Given the description of an element on the screen output the (x, y) to click on. 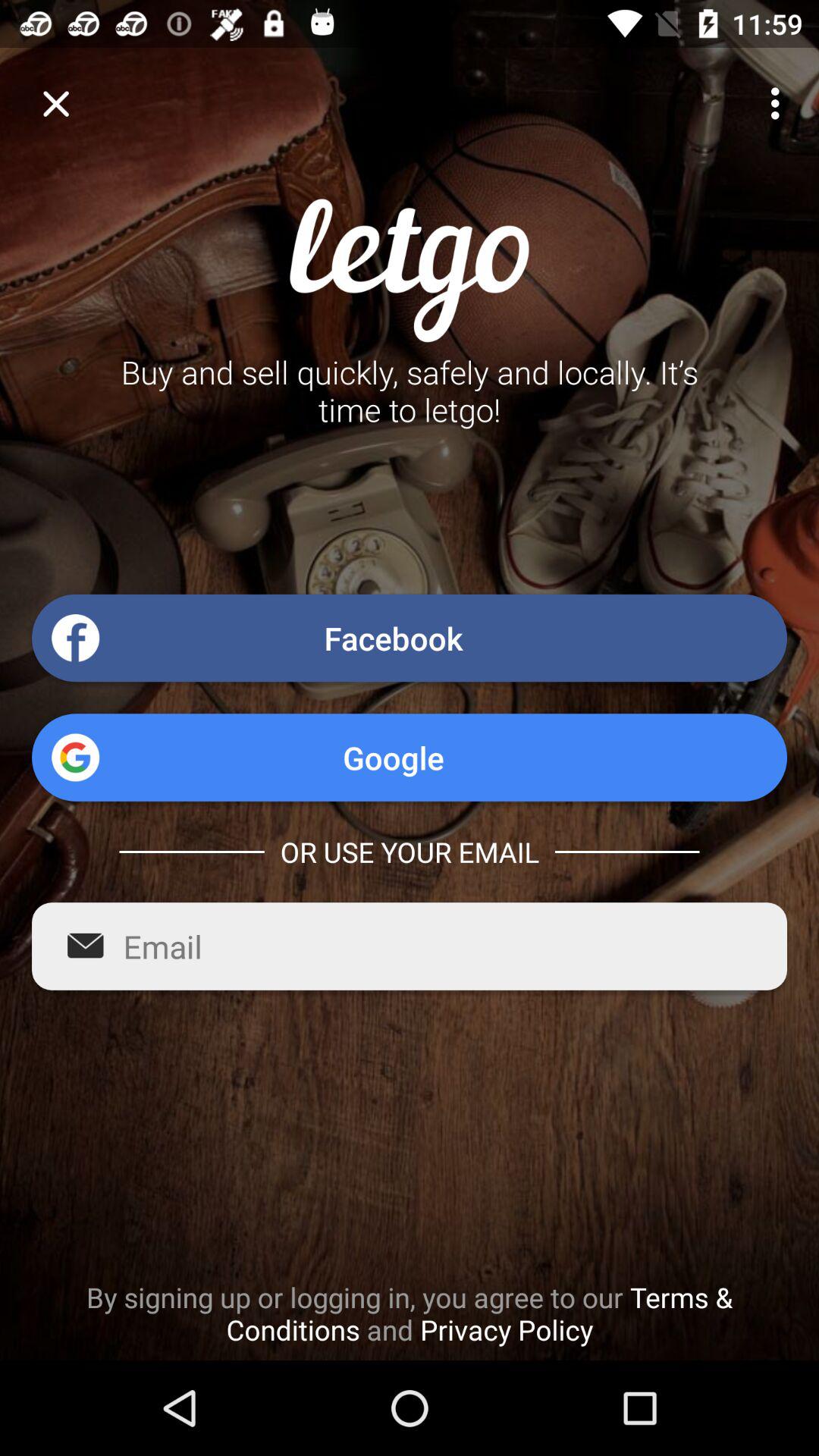
choose item at the top right corner (779, 103)
